Given the description of an element on the screen output the (x, y) to click on. 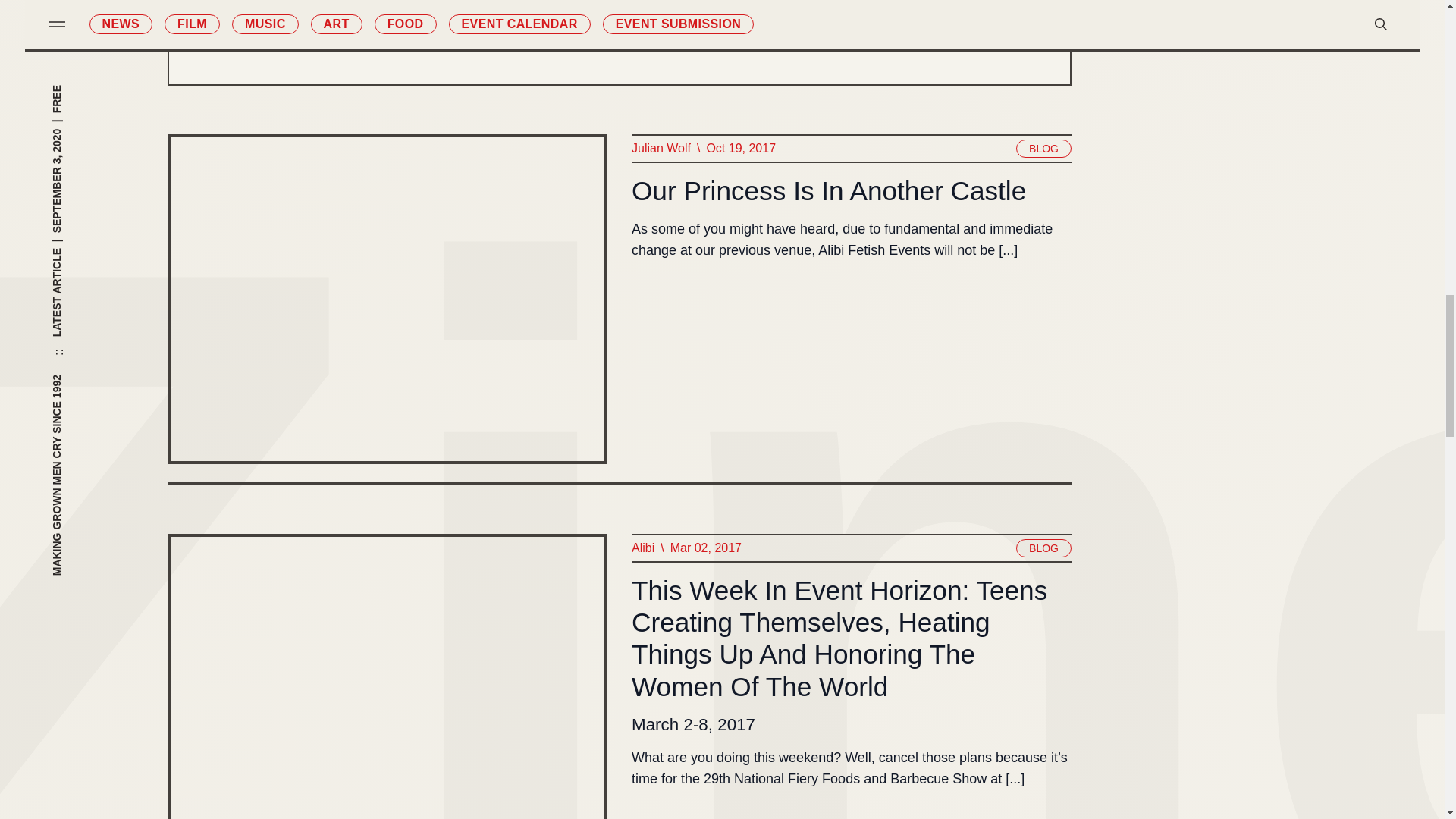
BLOG (1043, 148)
Alibi (641, 547)
Julian Wolf (660, 148)
BLOG (1043, 547)
